Given the description of an element on the screen output the (x, y) to click on. 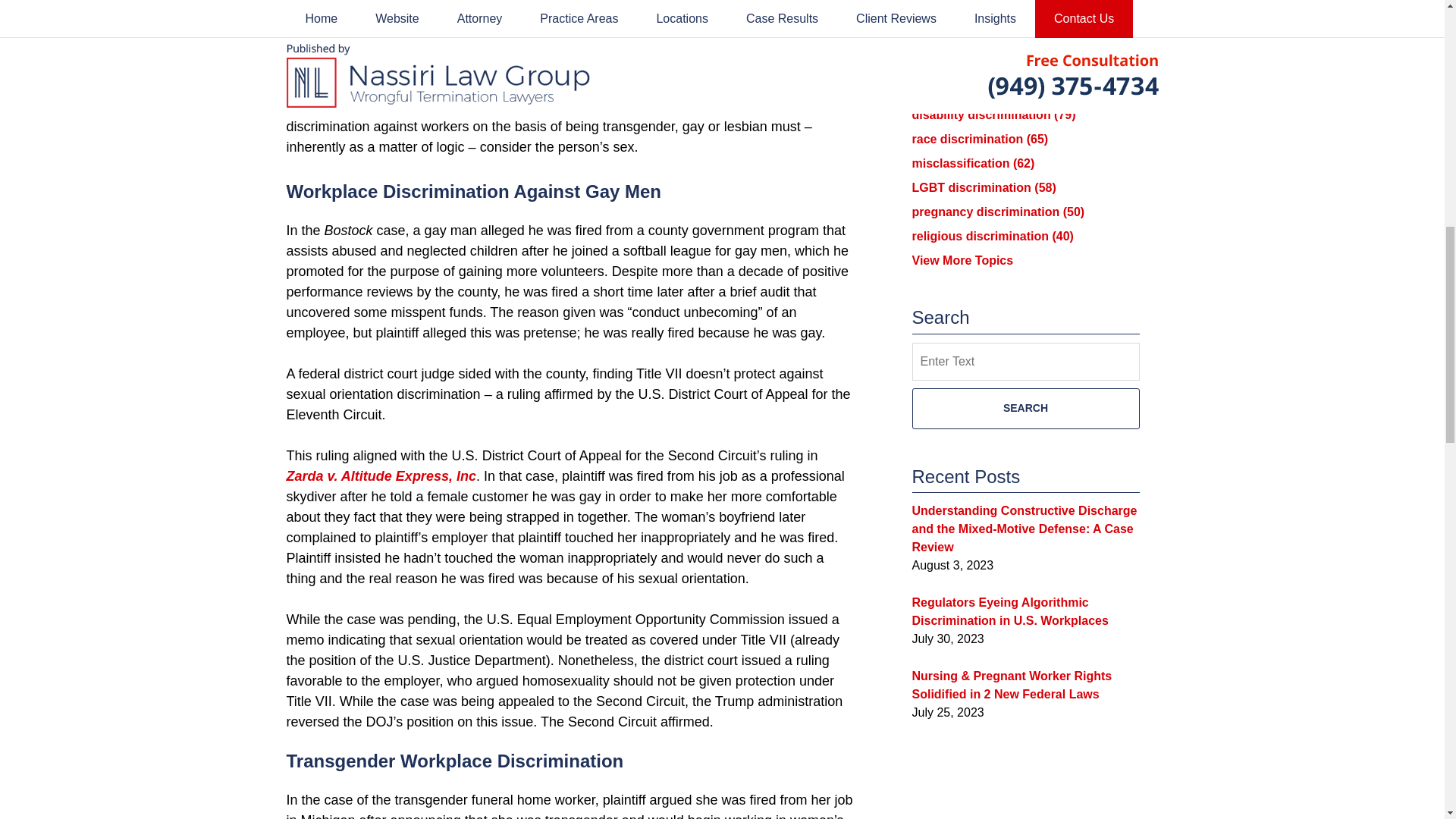
Zarda v. Altitude Express, Inc (381, 476)
